Given the description of an element on the screen output the (x, y) to click on. 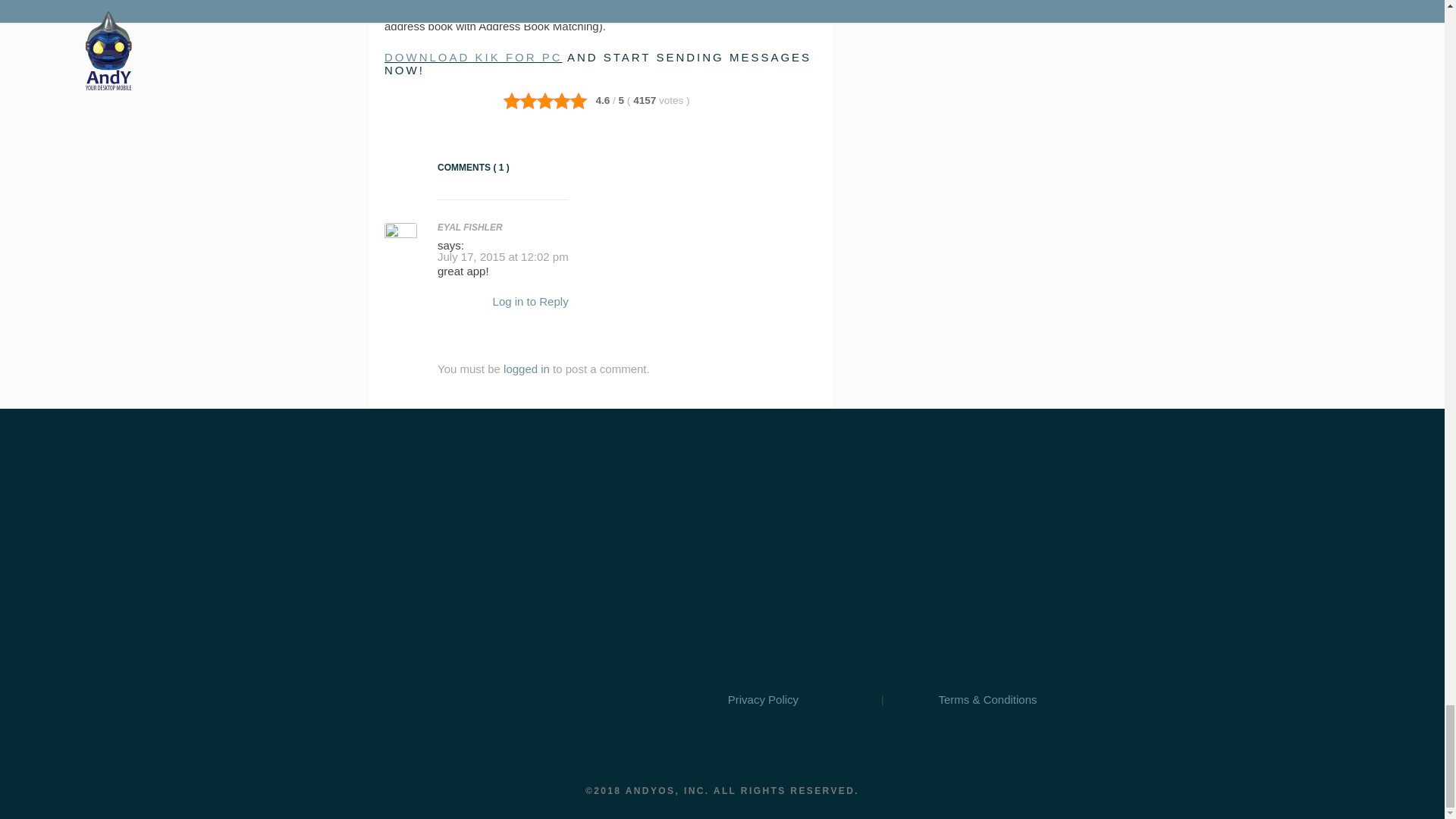
DOWNLOAD KIK FOR PC (473, 56)
July 17, 2015 at 12:02 pm (503, 256)
Log in to Reply (531, 300)
logged in (526, 368)
